Given the description of an element on the screen output the (x, y) to click on. 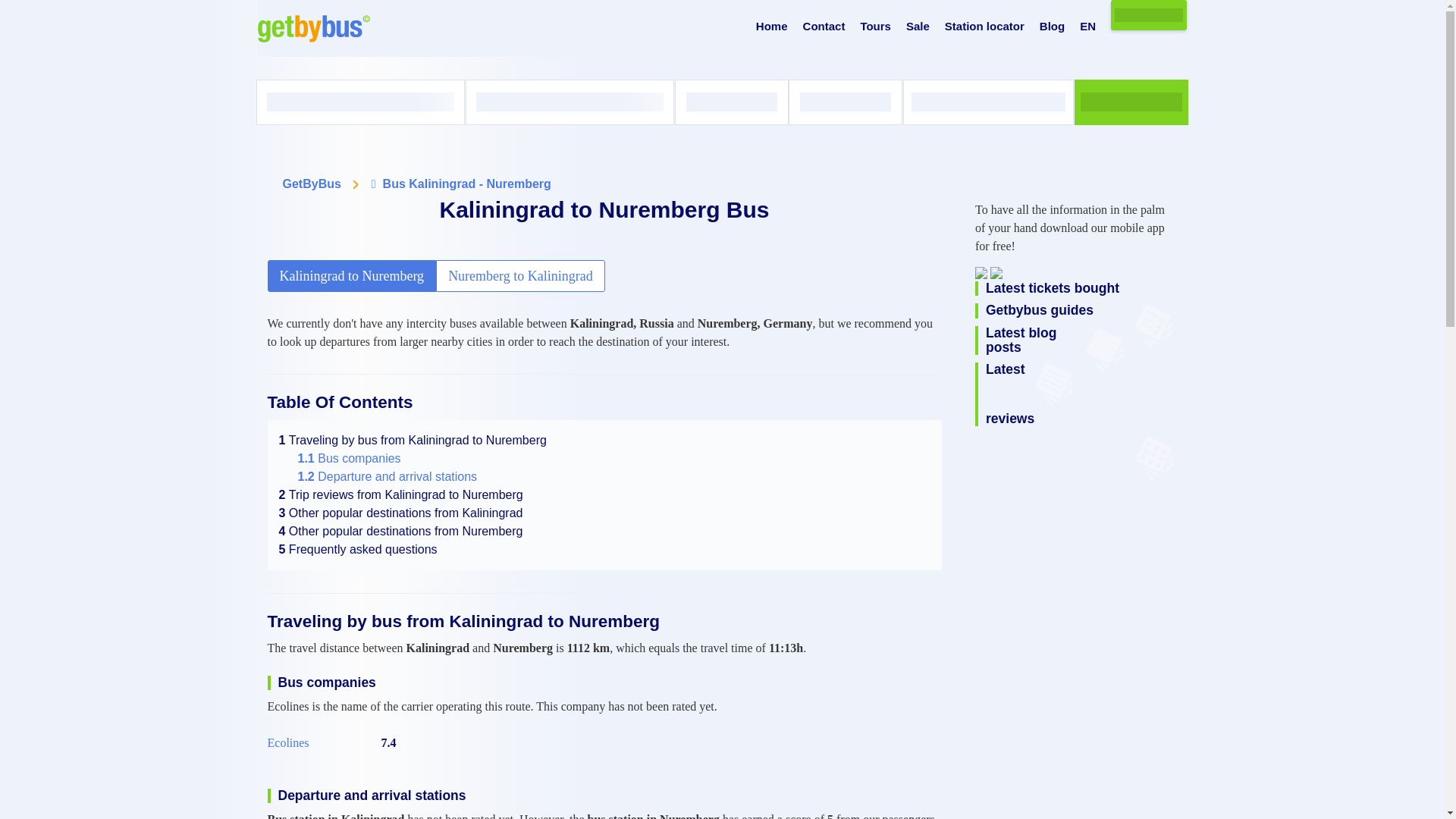
Frequently asked questions (358, 549)
Ecolines (287, 742)
Other popular destinations from Nuremberg (400, 530)
Trip reviews from Kaliningrad to Nuremberg (400, 494)
GetByBus (311, 183)
Other popular destinations from Kaliningrad (400, 512)
Station locator (984, 26)
 GetByBus (311, 183)
Traveling by bus from Kaliningrad to Nuremberg (413, 440)
Departure and arrival stations (387, 476)
